Given the description of an element on the screen output the (x, y) to click on. 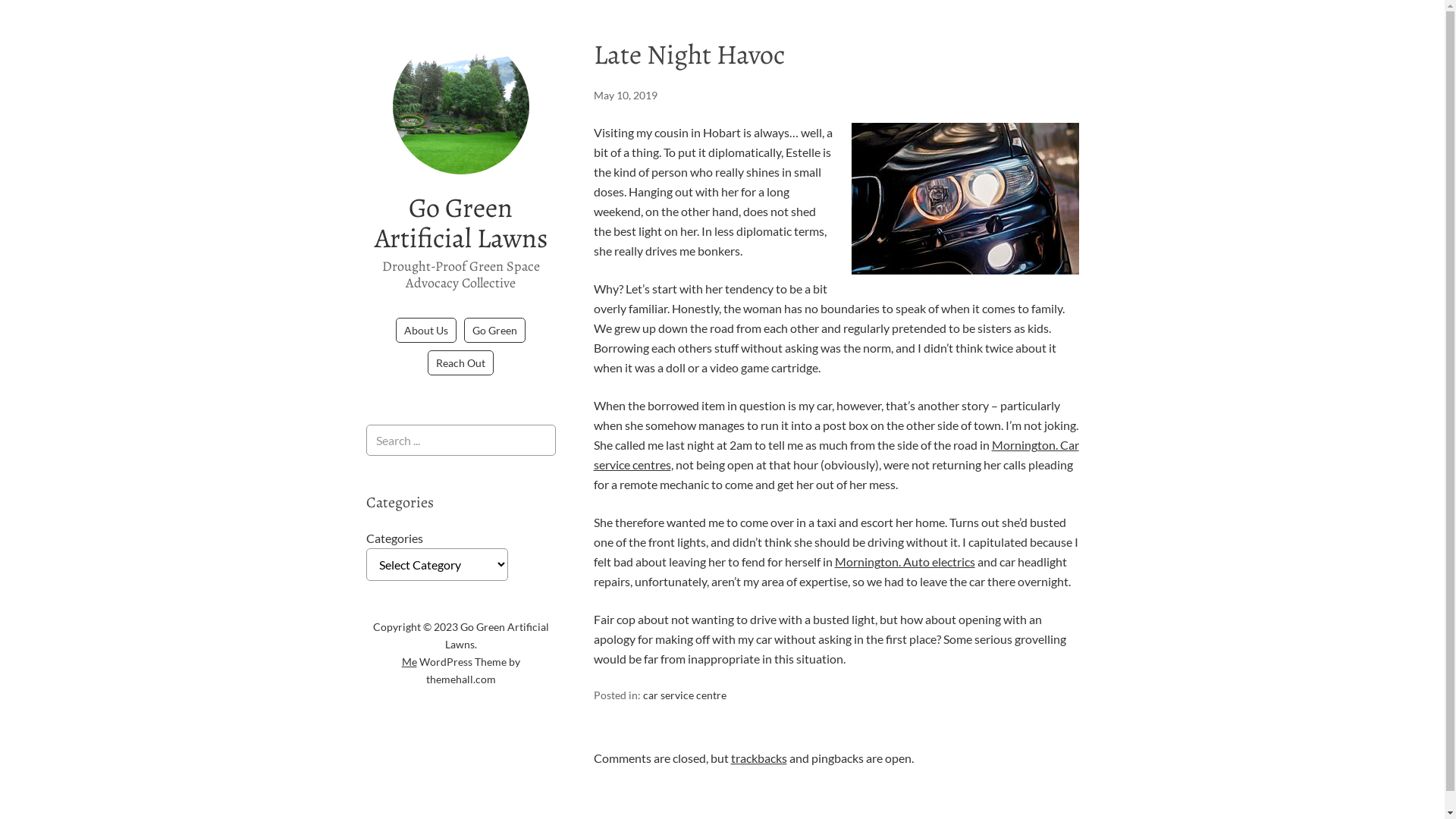
Go Green Artificial Lawns Element type: text (460, 222)
Me Element type: text (409, 661)
Search Element type: text (0, 0)
Reach Out Element type: text (460, 362)
car service centre Element type: text (684, 694)
Search for: Element type: hover (460, 439)
Mornington. Car service centres Element type: text (835, 454)
Mornington. Auto electrics Element type: text (904, 561)
About Us Element type: text (425, 329)
trackbacks Element type: text (759, 757)
Go Green Element type: text (494, 329)
